Given the description of an element on the screen output the (x, y) to click on. 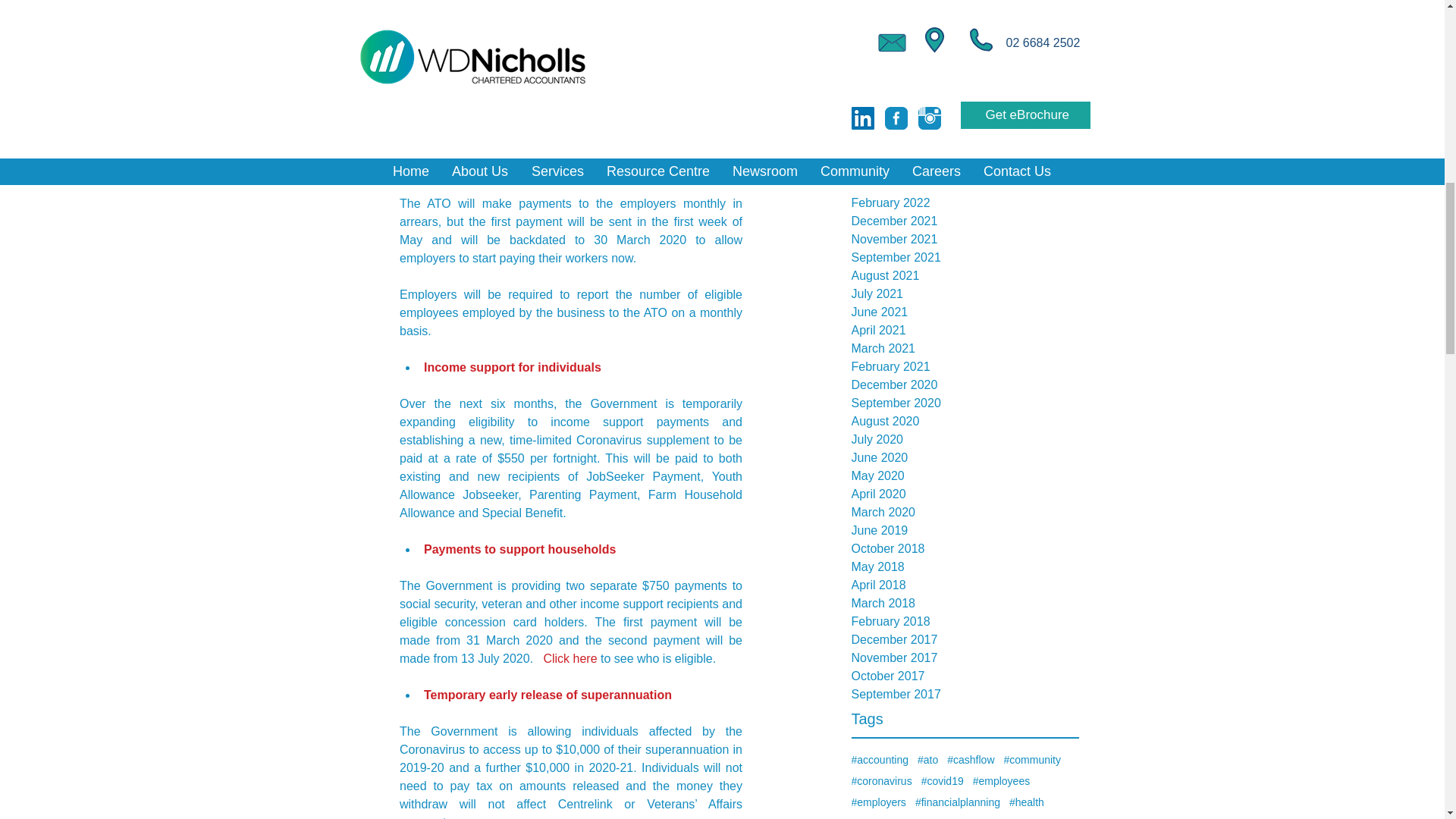
March 2023 (964, 21)
April 2023 (964, 6)
